Given the description of an element on the screen output the (x, y) to click on. 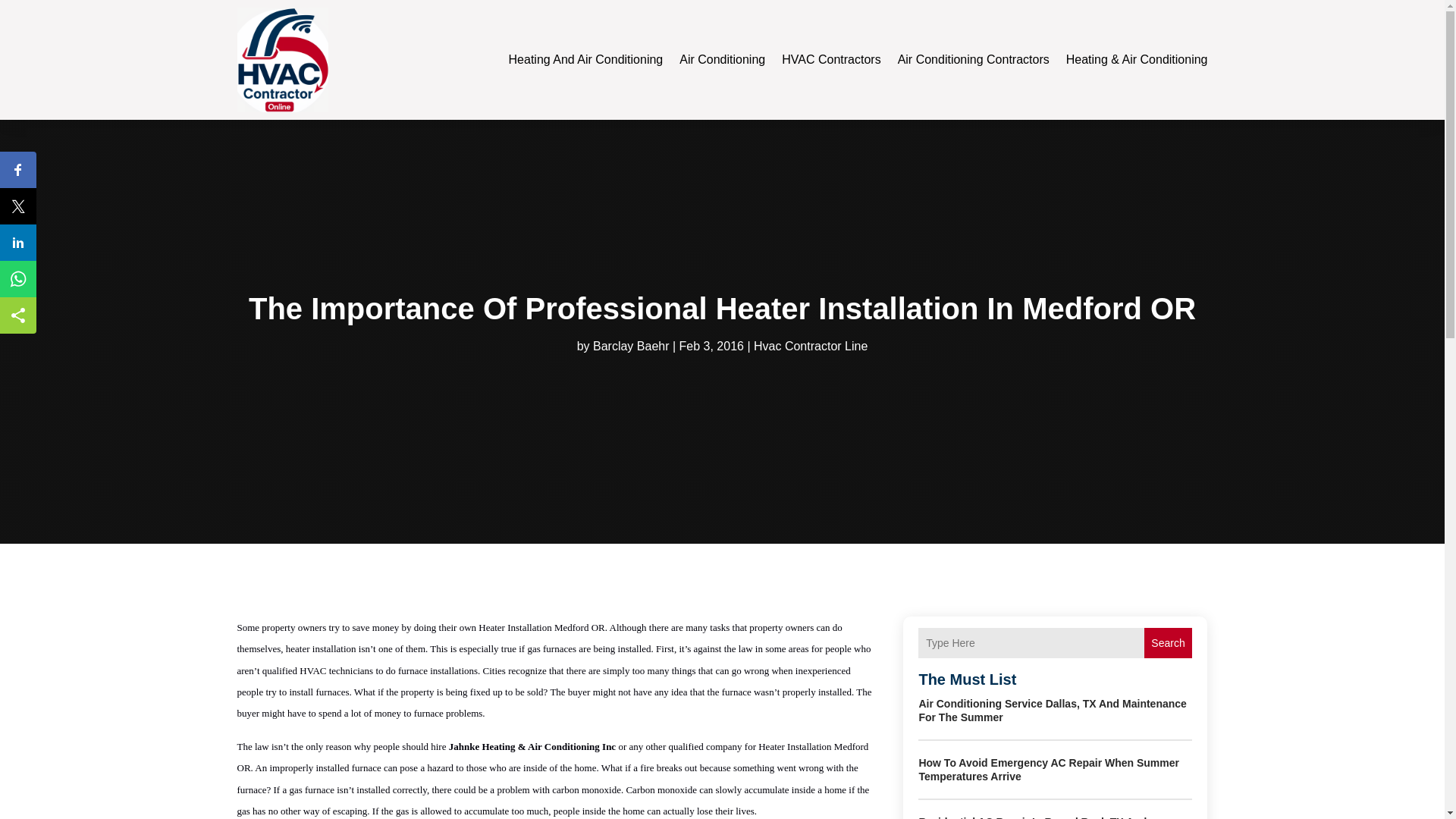
Posts by Barclay Baehr (630, 345)
Air Conditioning Contractors (973, 59)
Search (1168, 643)
Barclay Baehr (630, 345)
HVAC Contractors (830, 59)
Hvac Contractor Line (810, 345)
Residential AC Repair In Round Rock TX And Replacement (1032, 817)
Heating And Air Conditioning (585, 59)
